Given the description of an element on the screen output the (x, y) to click on. 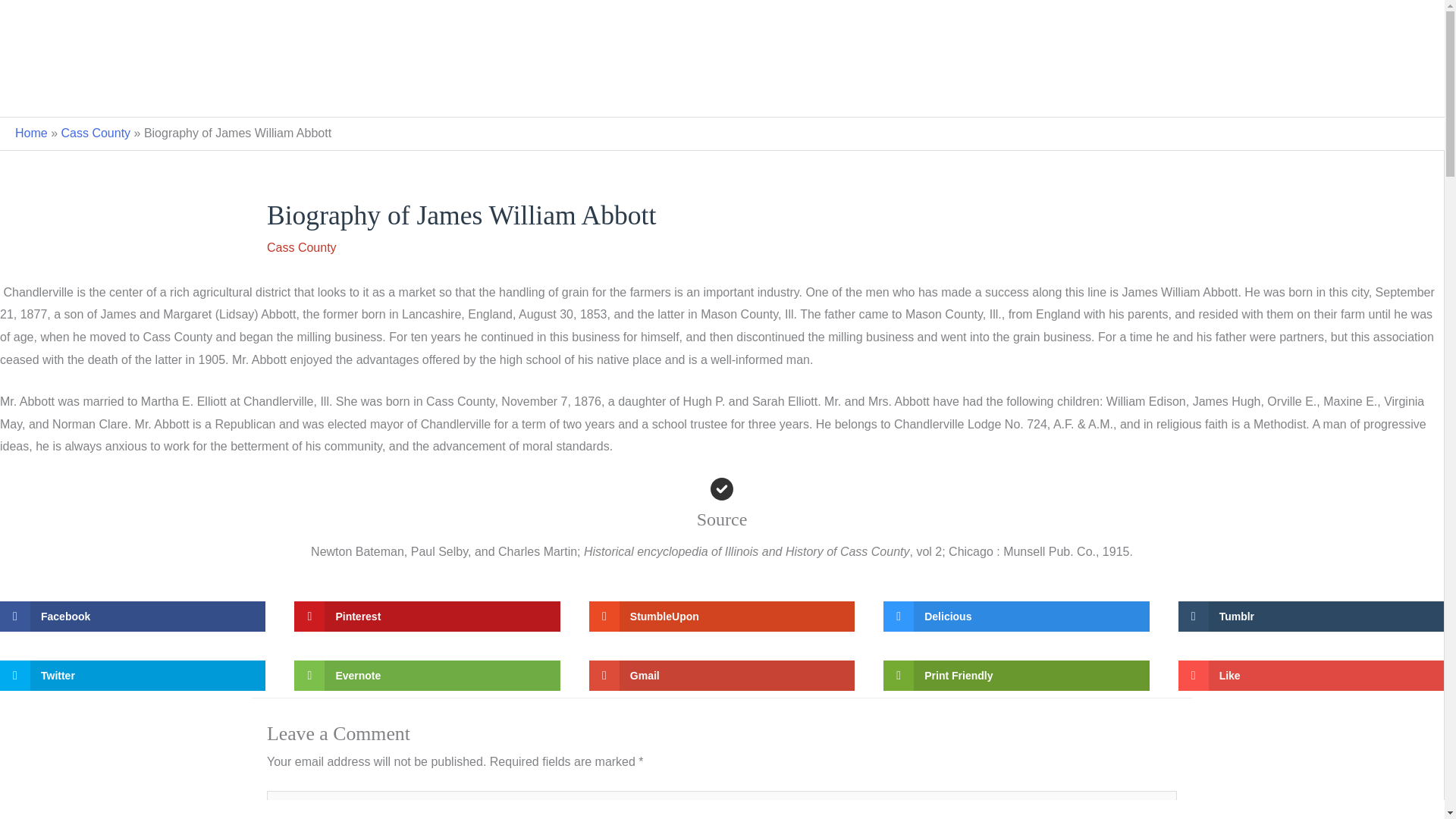
Contact Us (851, 92)
StumbleUpon (721, 616)
Cass County (301, 246)
Print Friendly (1015, 675)
Twitter (132, 675)
Champaign County (615, 92)
Illinois Genealogy (721, 26)
Delicious (1015, 616)
Gmail (721, 675)
Rock Island County (744, 92)
